Given the description of an element on the screen output the (x, y) to click on. 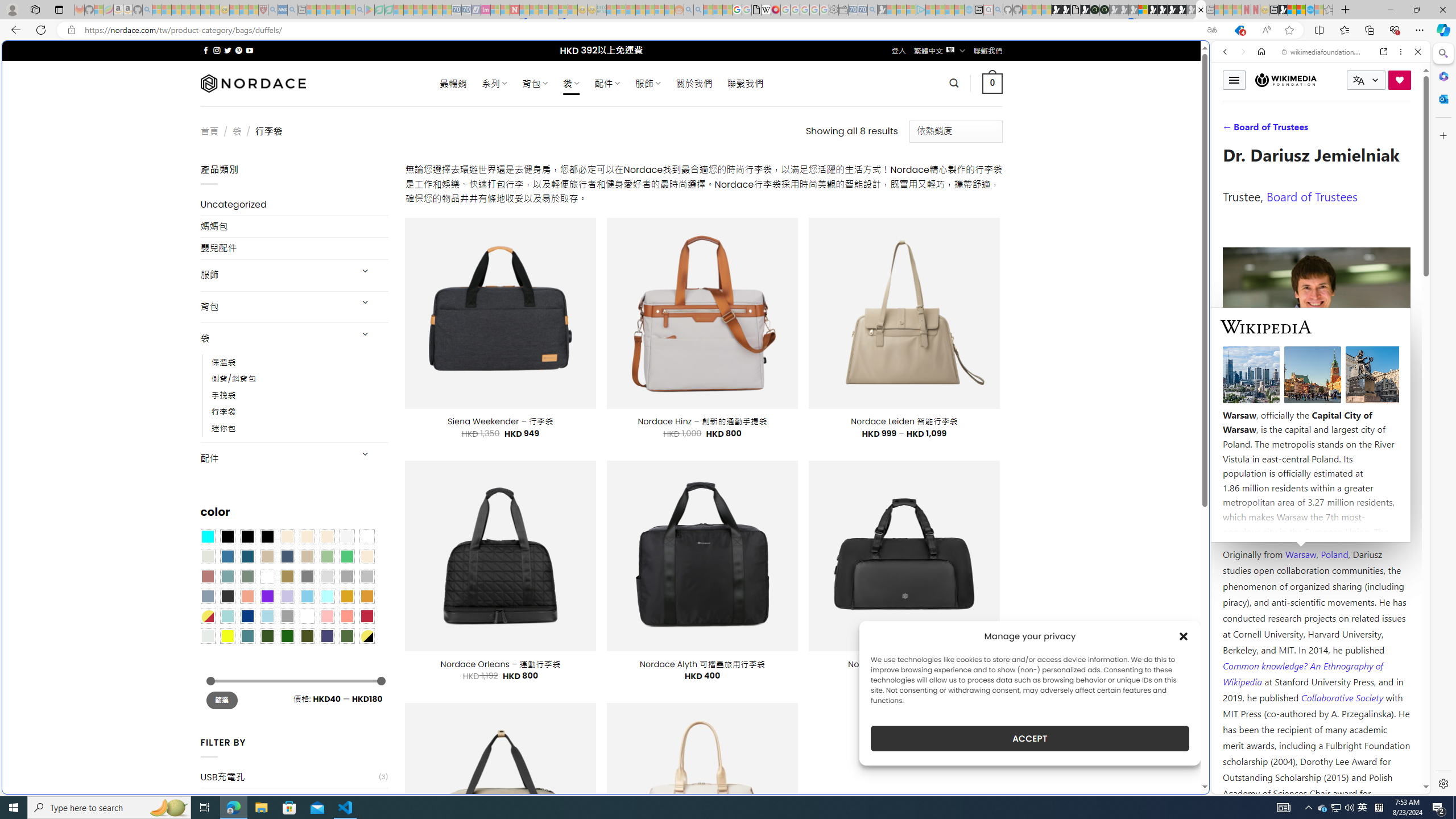
Wikimedia Foundation (1285, 79)
Earth has six continents not seven, radical new study claims (1300, 9)
